Given the description of an element on the screen output the (x, y) to click on. 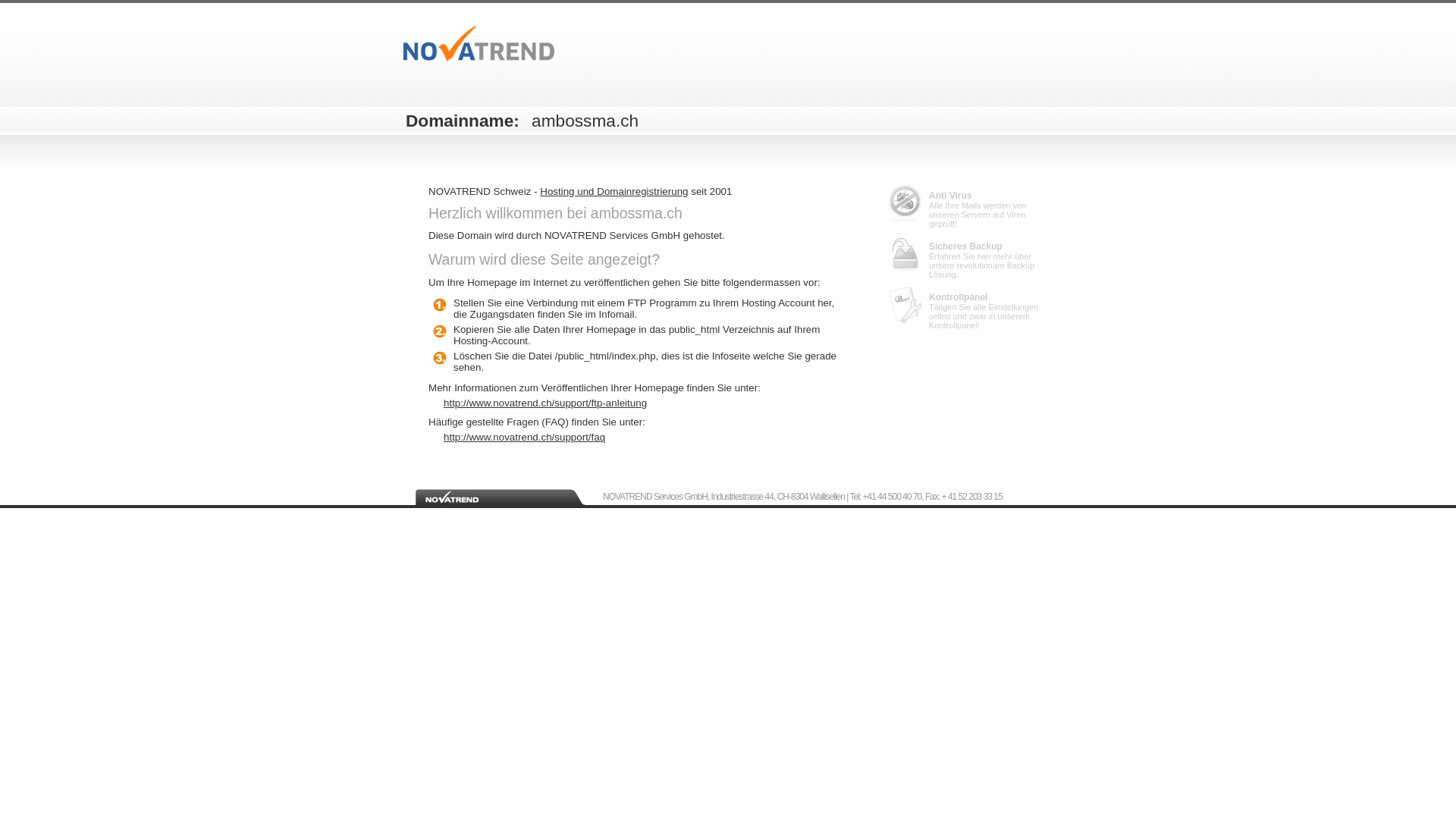
http://www.novatrend.ch/support/faq Element type: text (644, 436)
http://www.novatrend.ch/support/ftp-anleitung Element type: text (644, 402)
Hosting und Domainregistrierung Element type: text (613, 191)
